Given the description of an element on the screen output the (x, y) to click on. 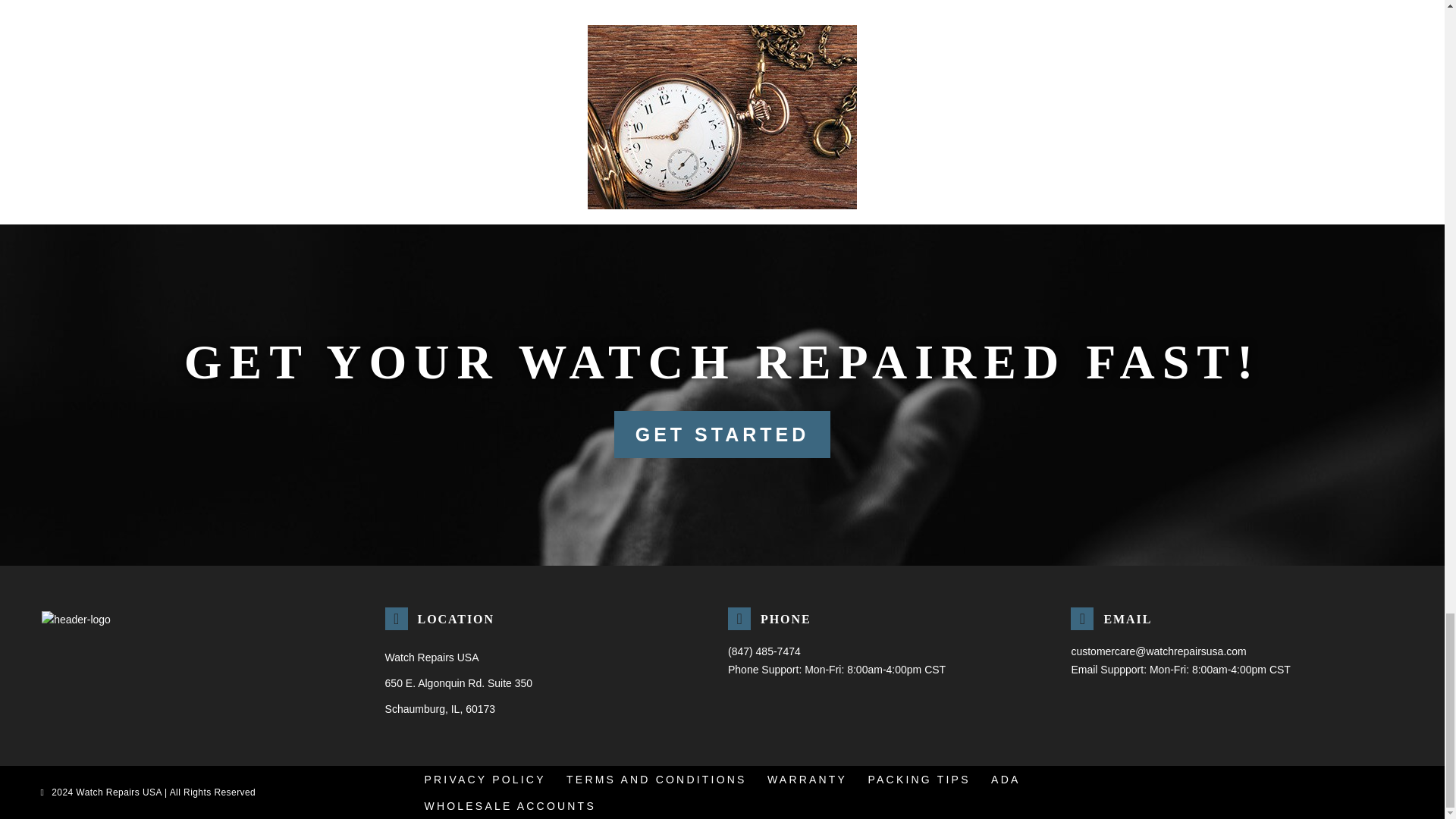
GET STARTED (722, 434)
PRIVACY POLICY (485, 779)
WHOLESALE ACCOUNTS (510, 806)
TERMS AND CONDITIONS (655, 779)
PACKING TIPS (919, 779)
ADA (1005, 779)
WARRANTY (807, 779)
